Given the description of an element on the screen output the (x, y) to click on. 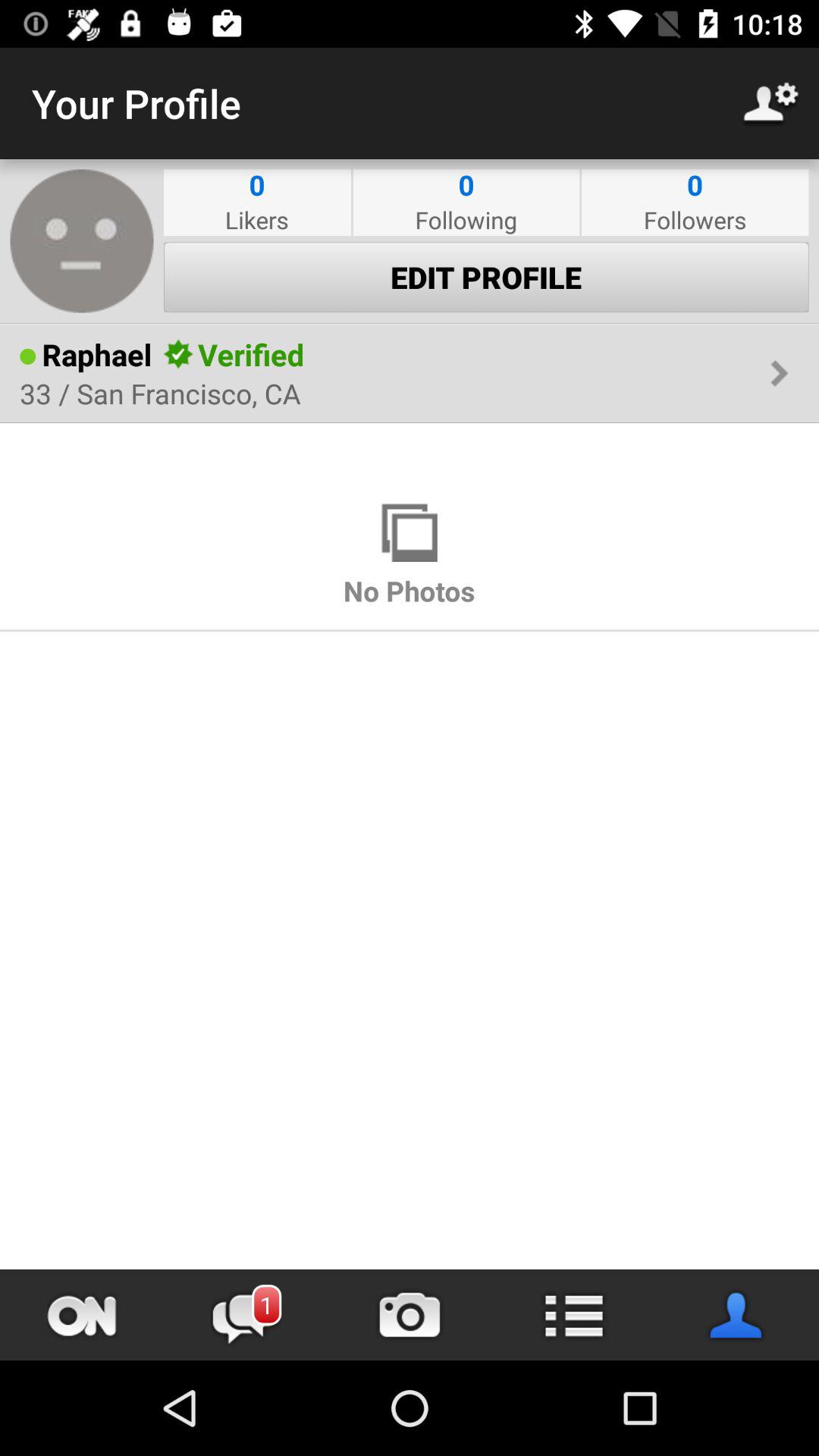
turn on item next to verified icon (178, 354)
